Given the description of an element on the screen output the (x, y) to click on. 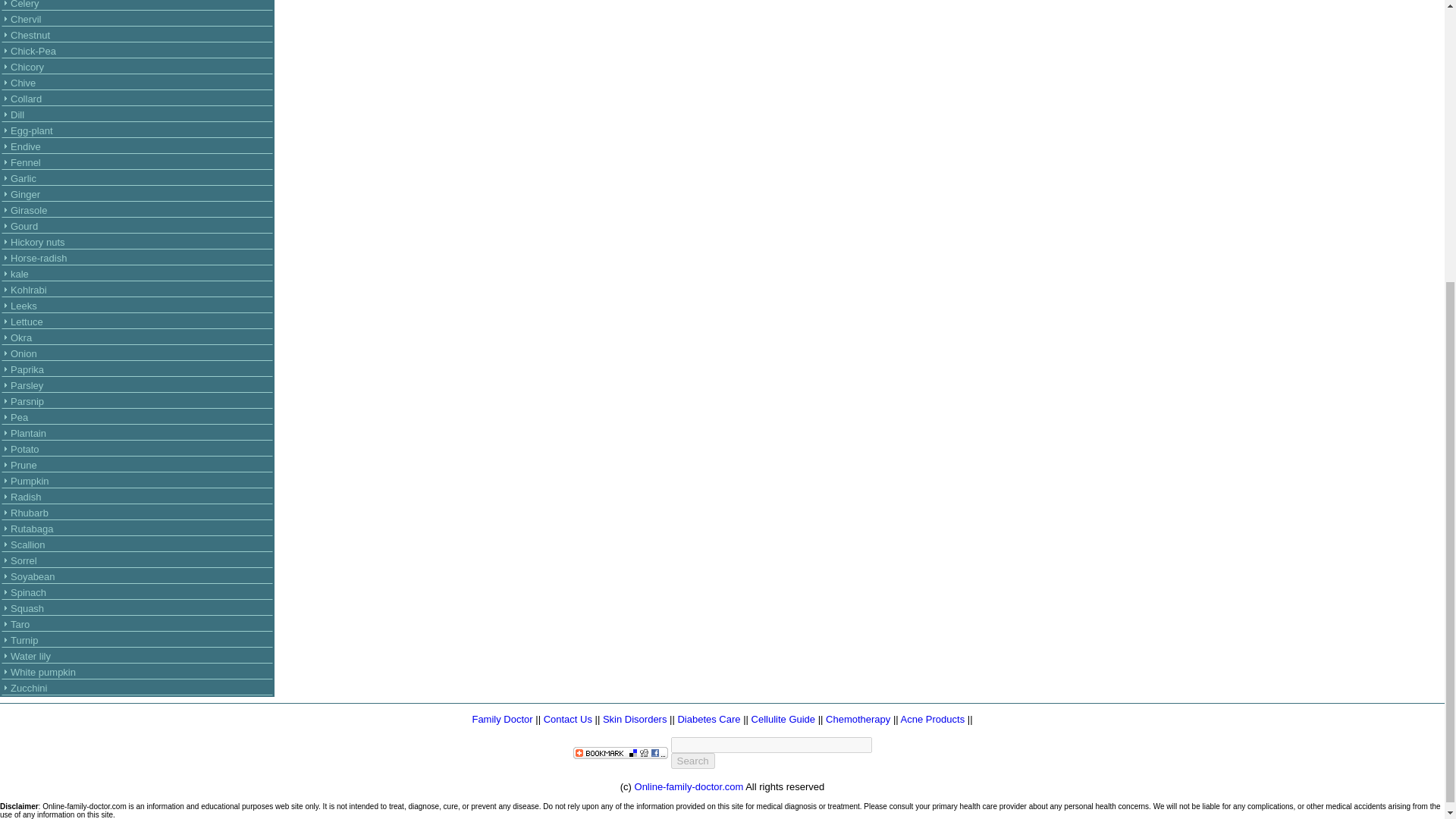
Chive (22, 82)
Collard (26, 98)
Chicory (26, 66)
Ginger (25, 194)
Chestnut (29, 34)
Girasole (28, 210)
Dill (17, 114)
Egg-plant (31, 130)
Celery (24, 4)
Fennel (25, 162)
Endive (25, 146)
Advertisement (429, 63)
Chick-Pea (33, 50)
Chervil (25, 19)
Search (691, 760)
